Given the description of an element on the screen output the (x, y) to click on. 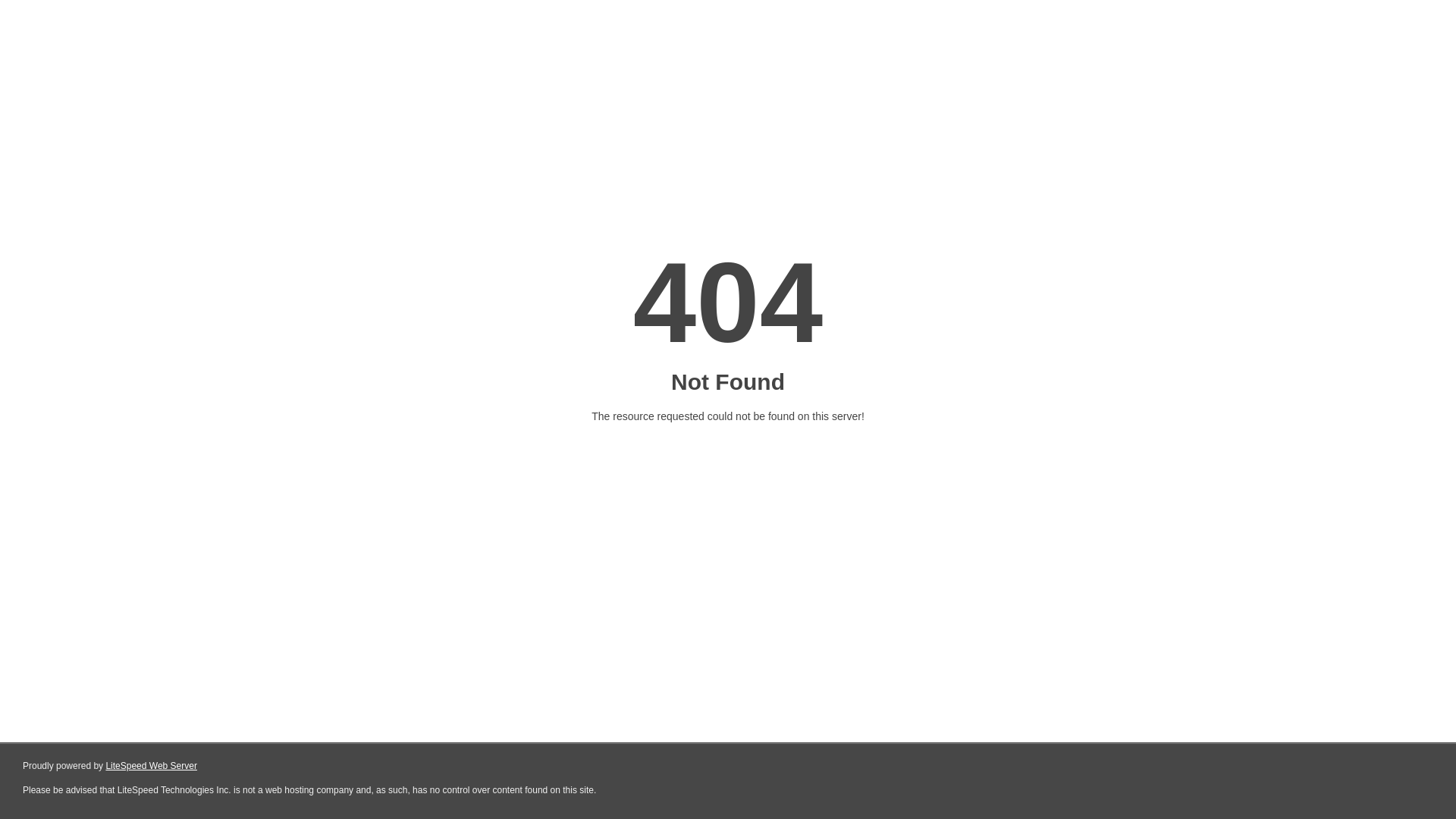
LiteSpeed Web Server Element type: text (151, 765)
